Given the description of an element on the screen output the (x, y) to click on. 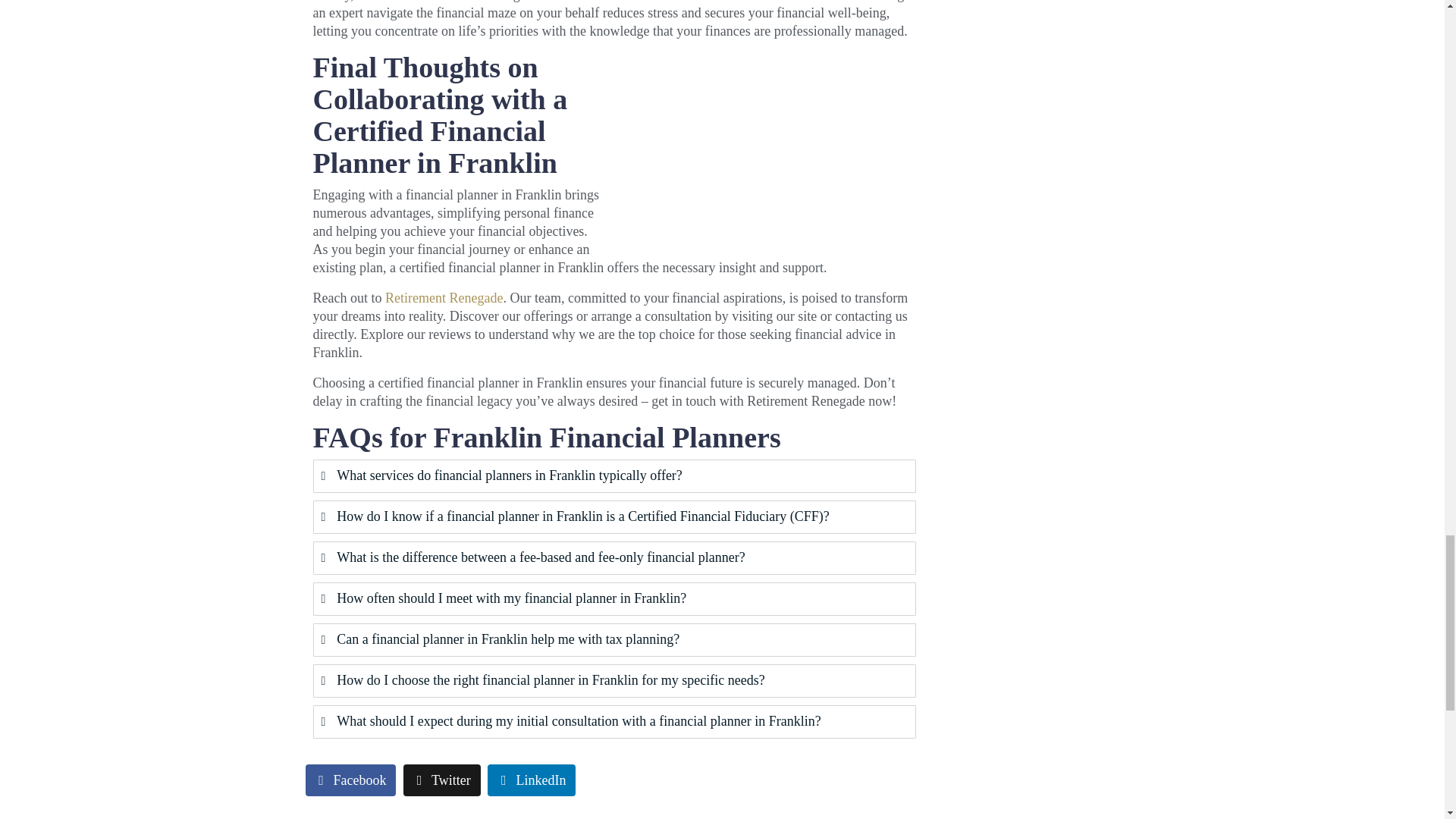
Retirement Renegade (443, 297)
LinkedIn (531, 780)
Twitter (441, 780)
Facebook (350, 780)
